Given the description of an element on the screen output the (x, y) to click on. 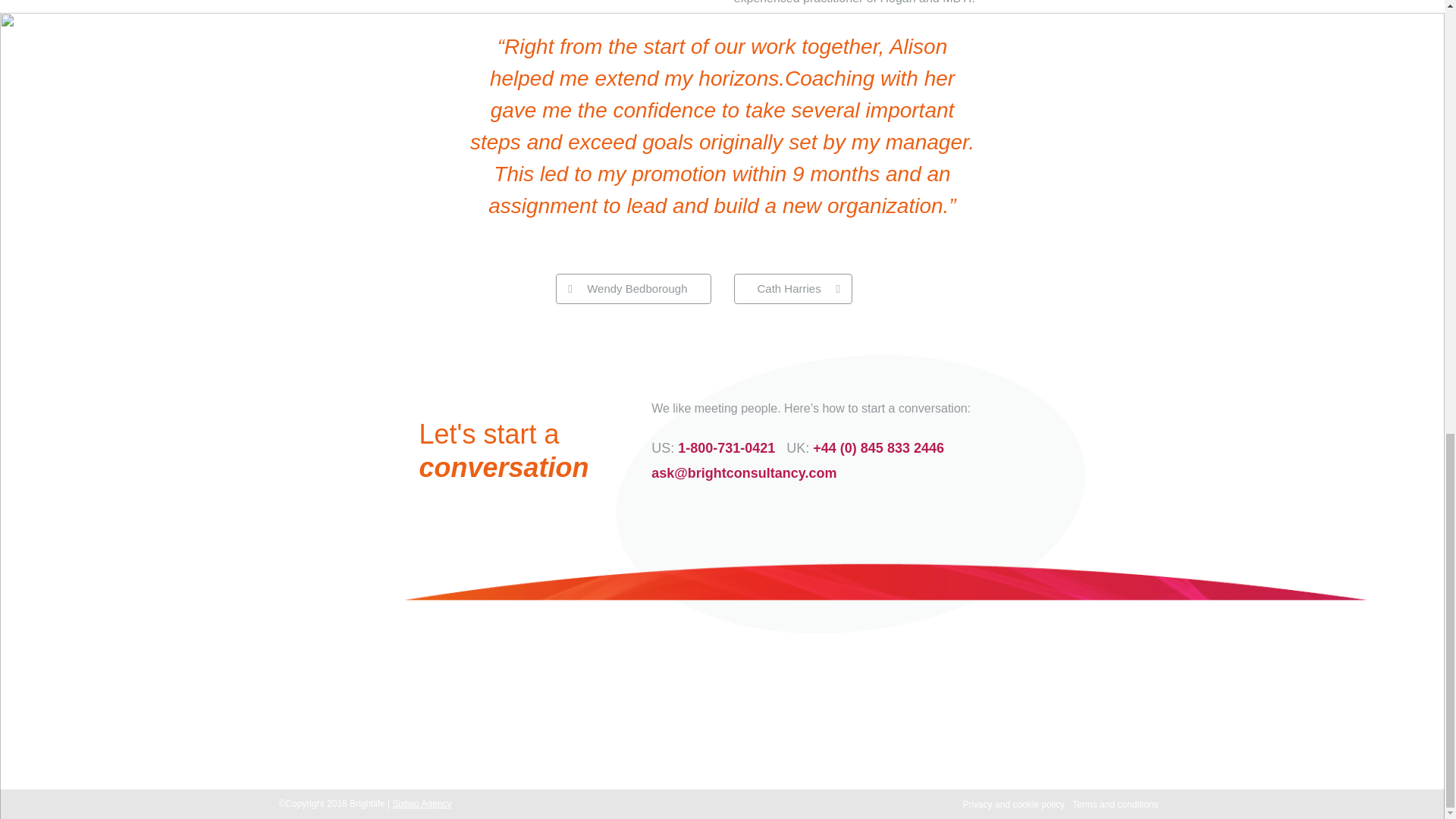
Sixtwo Agency (422, 803)
Cath Harries (792, 288)
1-800-731-0421 (553, 729)
1-800-731-0421 (726, 447)
Wendy Bedborough (633, 288)
Terms and conditions (1114, 804)
Privacy and cookie policy (1013, 804)
